Given the description of an element on the screen output the (x, y) to click on. 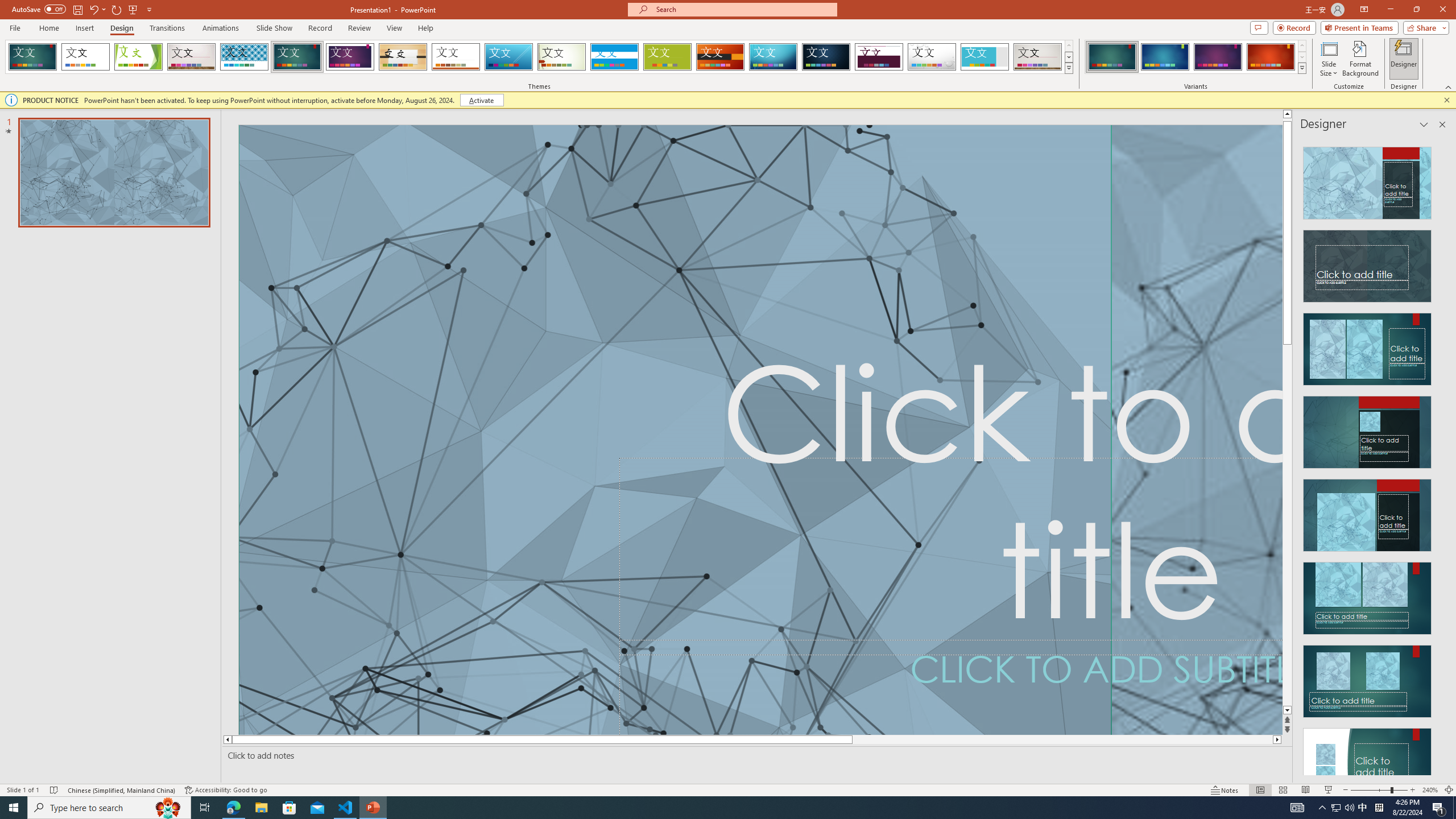
Integral (244, 56)
Variants (1301, 67)
Ion Variant 1 (1112, 56)
Organic (403, 56)
Zoom to Fit  (1449, 790)
Dividend (879, 56)
Zoom (1379, 790)
Slide Size (1328, 58)
Reading View (1305, 790)
Zoom In (1412, 790)
From Beginning (133, 9)
Spell Check No Errors (54, 790)
